Given the description of an element on the screen output the (x, y) to click on. 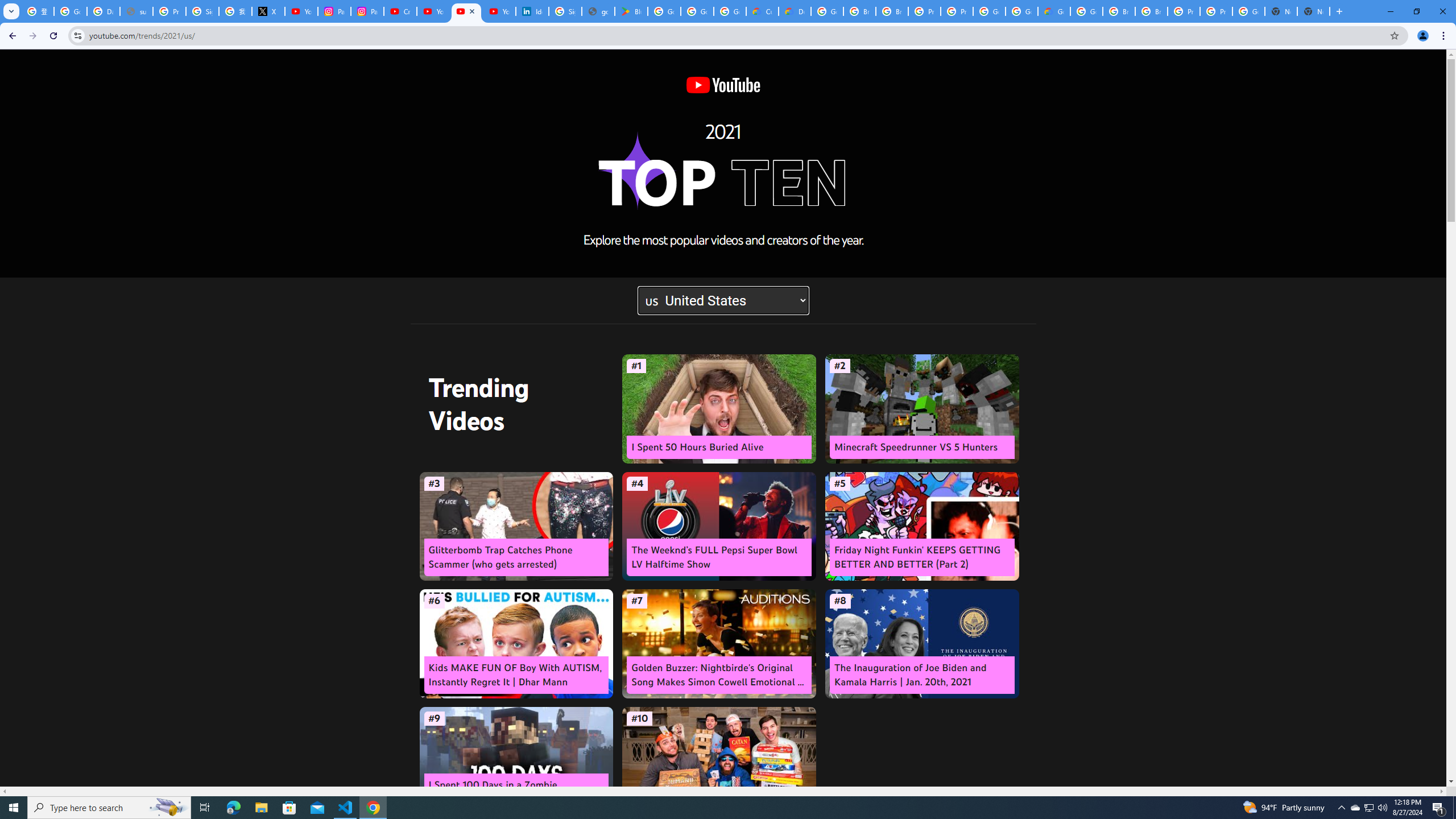
#10 Game Night Stereotypes (718, 761)
New Tab (1313, 11)
Google Cloud Platform (1086, 11)
Google Cloud Platform (827, 11)
